Given the description of an element on the screen output the (x, y) to click on. 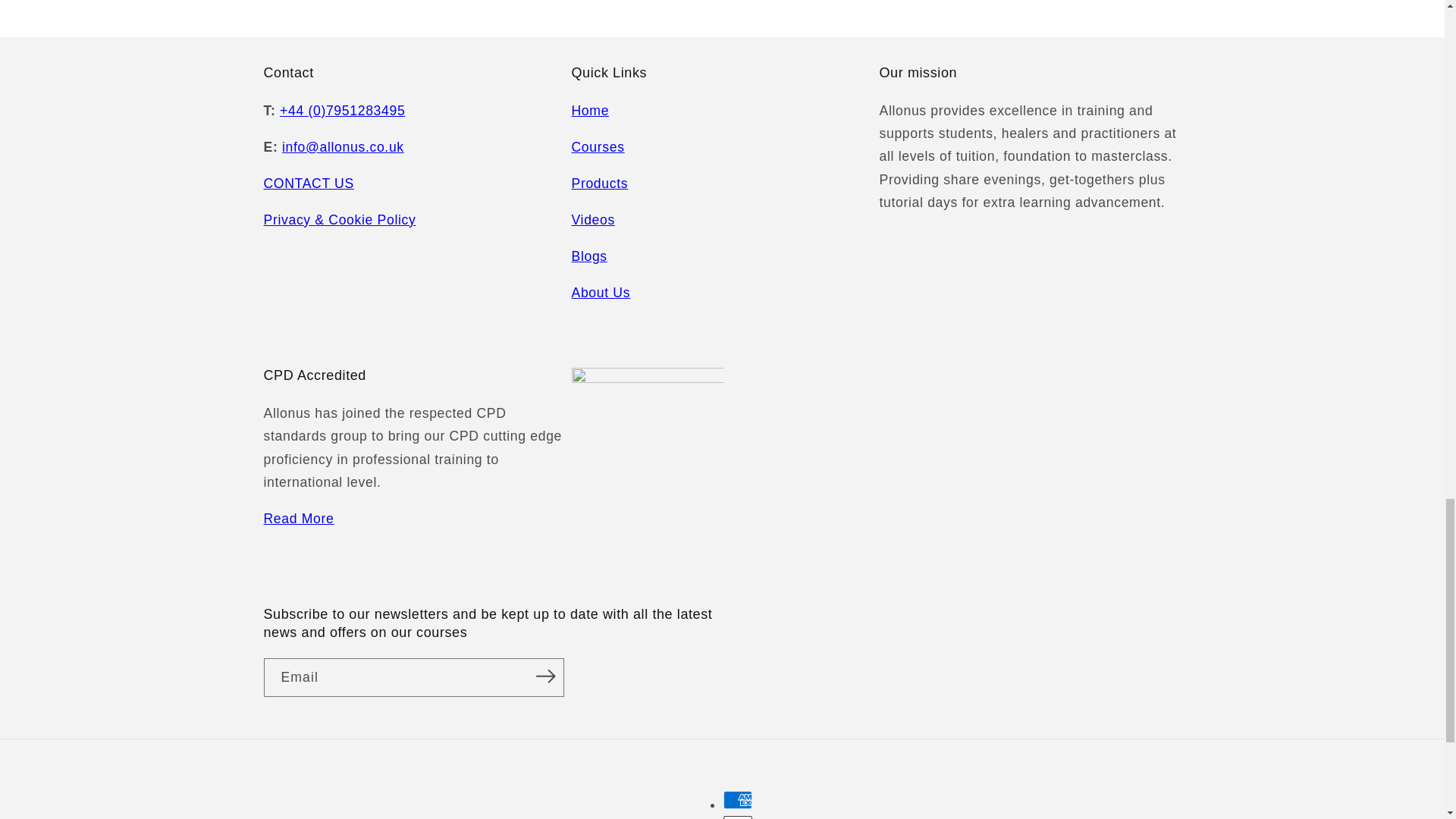
Apple Pay (737, 817)
Allonus CPD Accreditation (298, 518)
tel:07951283495 (341, 110)
American Express (737, 800)
Privacy Policy (339, 219)
